Given the description of an element on the screen output the (x, y) to click on. 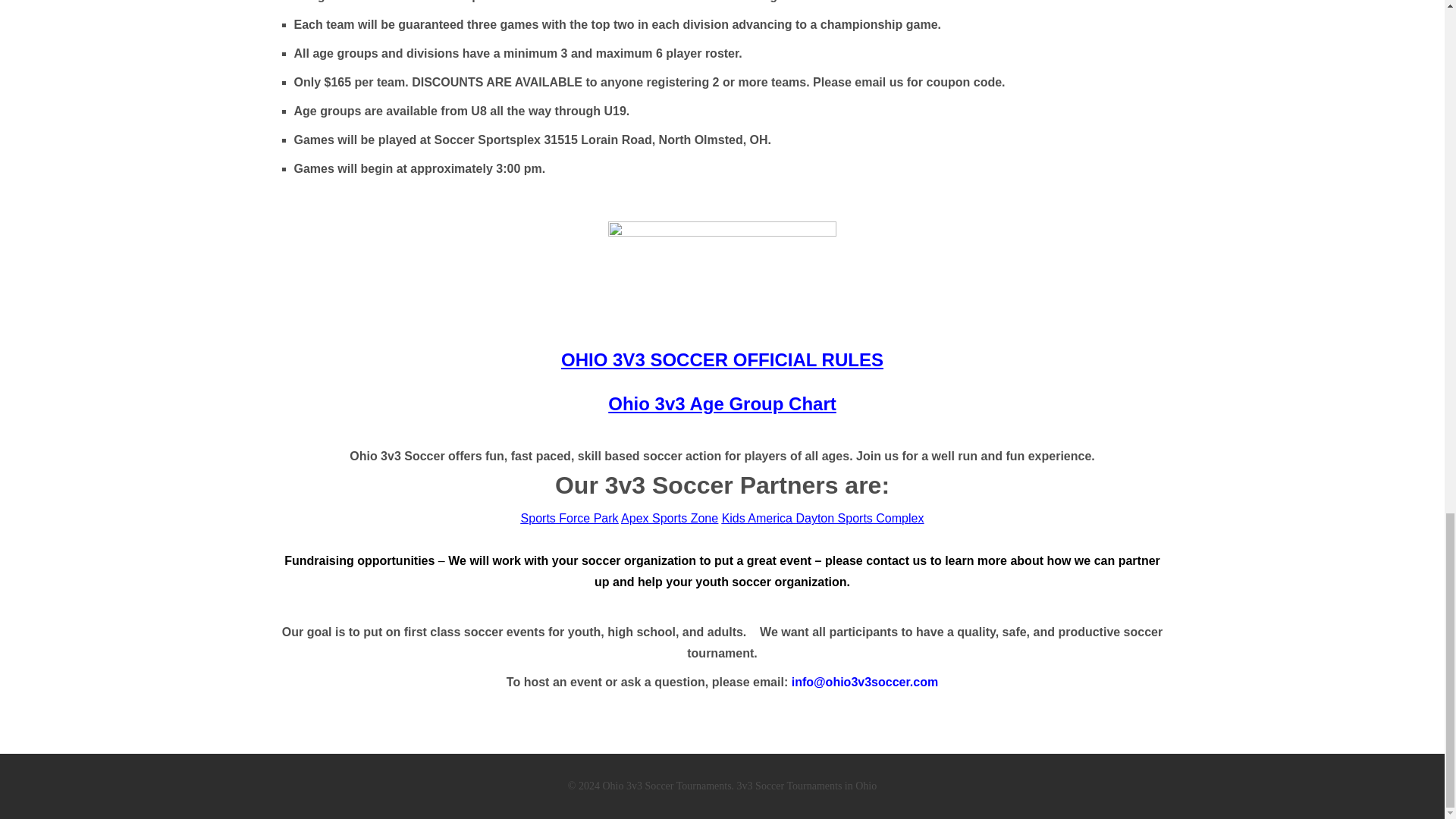
RULES (849, 359)
Apex Sports Zone (669, 517)
Ohio 3v3 Age Group Chart (721, 403)
Sports Force Park (569, 517)
OHIO 3V3 SOCCER OFFICIAL (688, 359)
Kids America (759, 517)
